Given the description of an element on the screen output the (x, y) to click on. 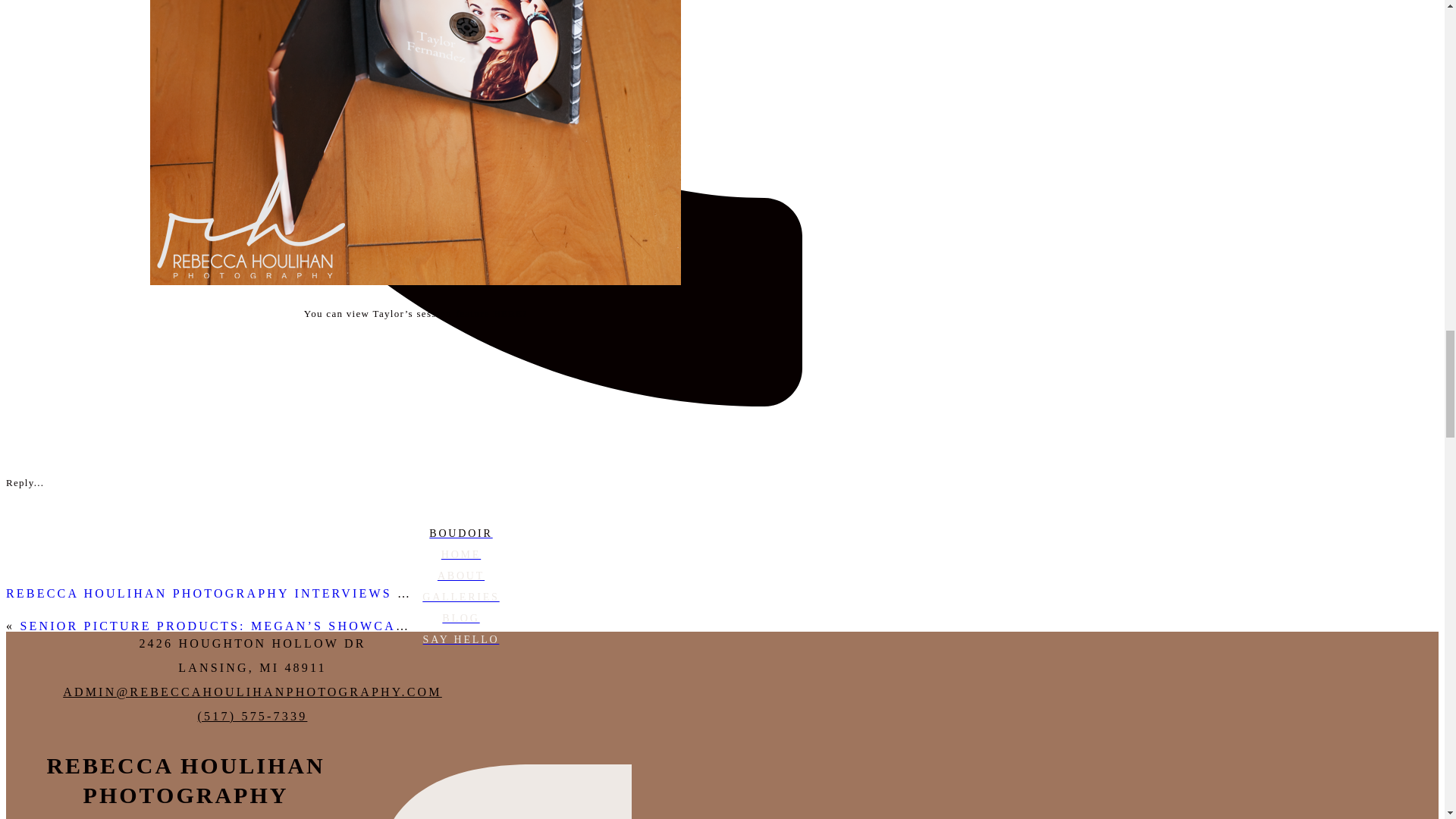
HERE (507, 313)
ABOUT (460, 576)
BLOG (460, 618)
HOME (460, 554)
GALLERIES (460, 597)
SAY HELLO (460, 639)
Taylor's Featured Session (507, 313)
BOUDOIR (460, 533)
